Given the description of an element on the screen output the (x, y) to click on. 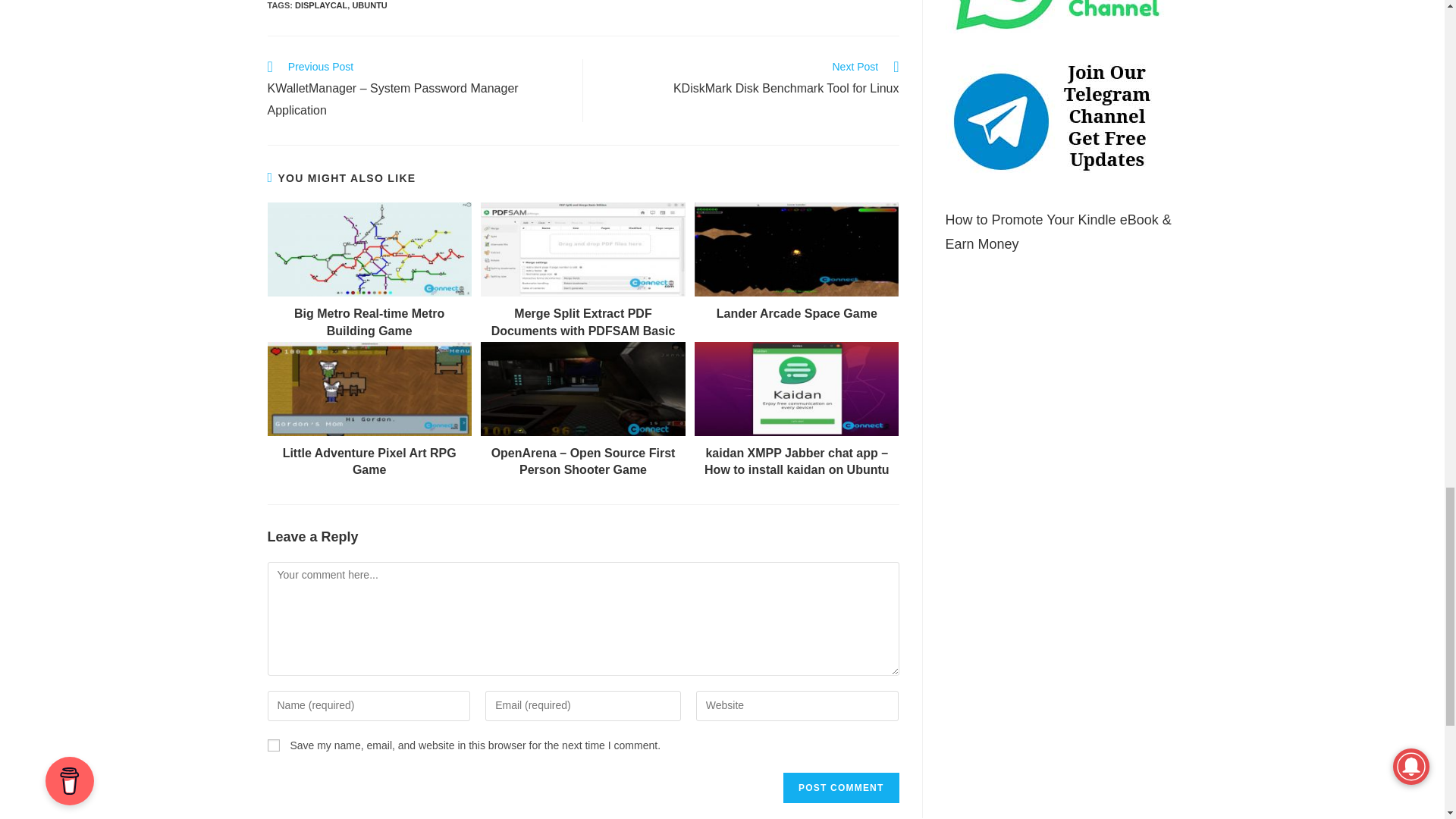
Post Comment (840, 788)
yes (272, 745)
